Given the description of an element on the screen output the (x, y) to click on. 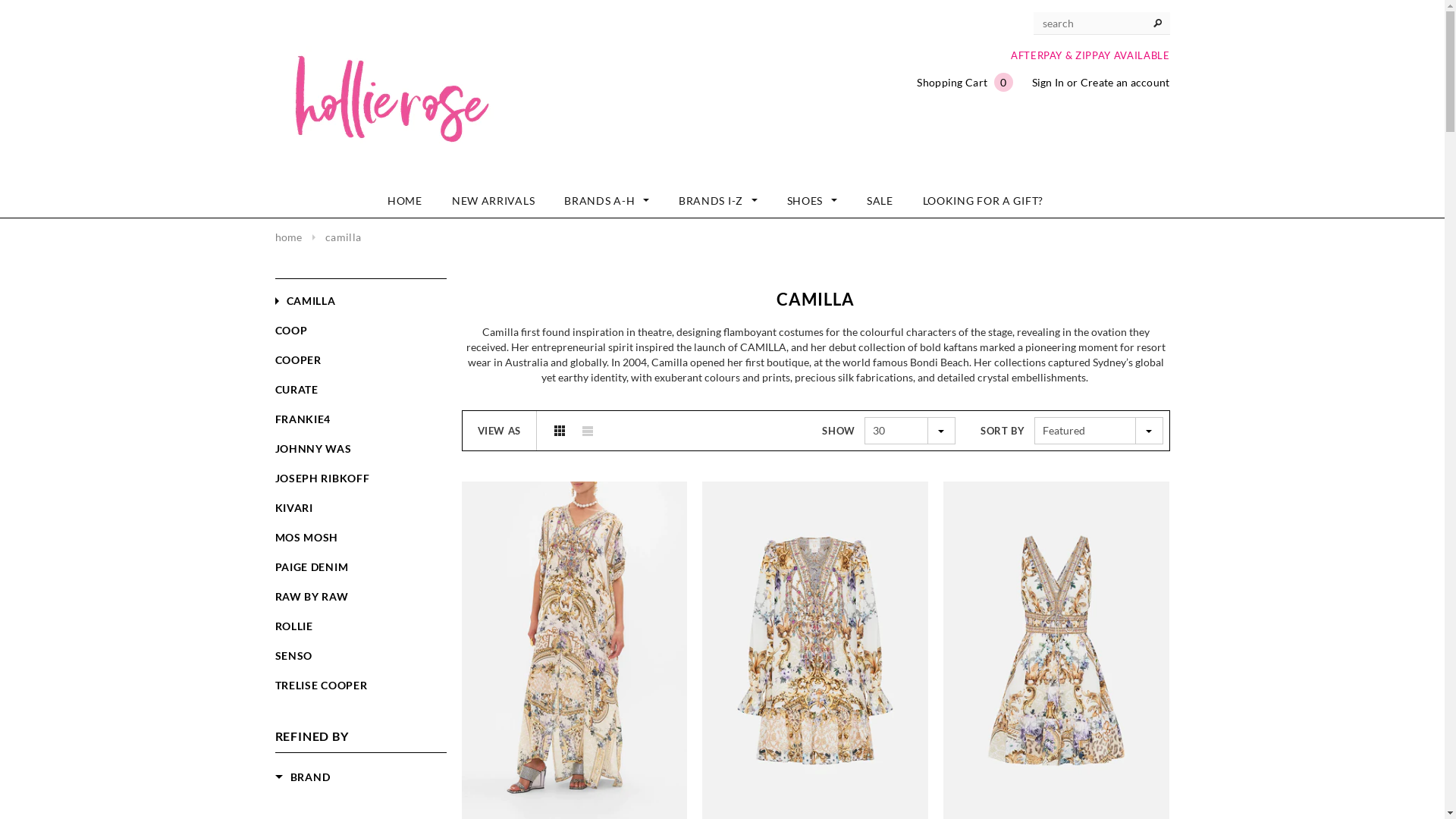
30 Element type: text (909, 430)
CAMILLA Element type: text (304, 300)
LOOKING FOR A GIFT? Element type: text (982, 200)
Sign In Element type: text (1048, 81)
GRID Element type: text (559, 429)
MOS MOSH Element type: text (306, 536)
LIST Element type: text (587, 429)
KIVARI Element type: text (293, 507)
RAW BY RAW Element type: text (311, 595)
SALE Element type: text (879, 200)
SHOES Element type: text (812, 200)
FRANKIE4 Element type: text (302, 418)
COOP Element type: text (290, 329)
JOHNNY WAS Element type: text (312, 448)
Create an account Element type: text (1125, 81)
JOSEPH RIBKOFF Element type: text (321, 477)
BRANDS I-Z Element type: text (717, 200)
HOME Element type: text (404, 200)
BRANDS A-H Element type: text (606, 200)
ROLLIE Element type: text (293, 625)
NEW ARRIVALS Element type: text (492, 200)
Add to Cart Element type: text (574, 727)
PAIGE DENIM Element type: text (311, 566)
Search Element type: text (1157, 23)
TRELISE COOPER Element type: text (320, 684)
Shopping Cart 0 Element type: text (964, 81)
Select options Element type: text (815, 727)
CURATE Element type: text (295, 388)
Featured Element type: text (1098, 430)
home Element type: text (287, 236)
COOPER Element type: text (297, 359)
Select options Element type: text (1056, 727)
SENSO Element type: text (293, 655)
